Given the description of an element on the screen output the (x, y) to click on. 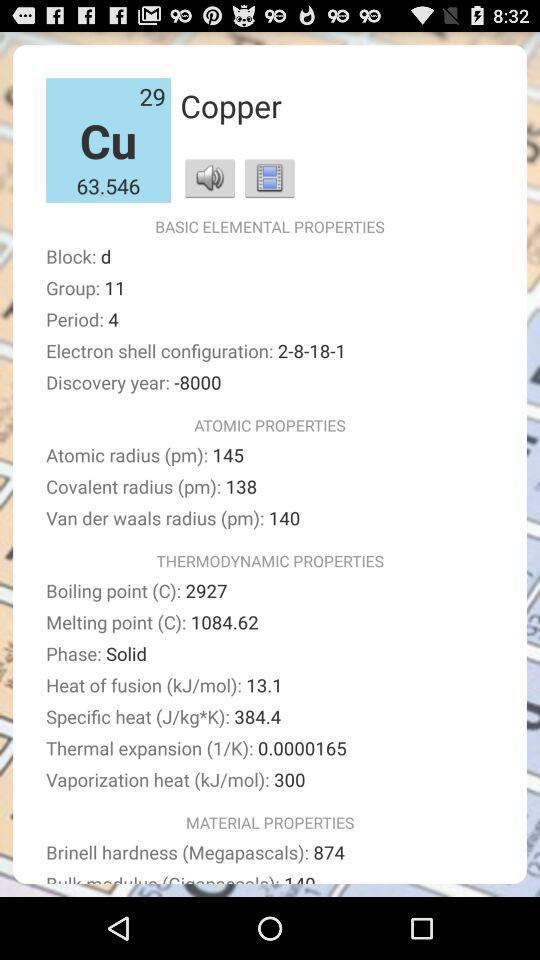
choose app next to 63.546 icon (210, 177)
